Given the description of an element on the screen output the (x, y) to click on. 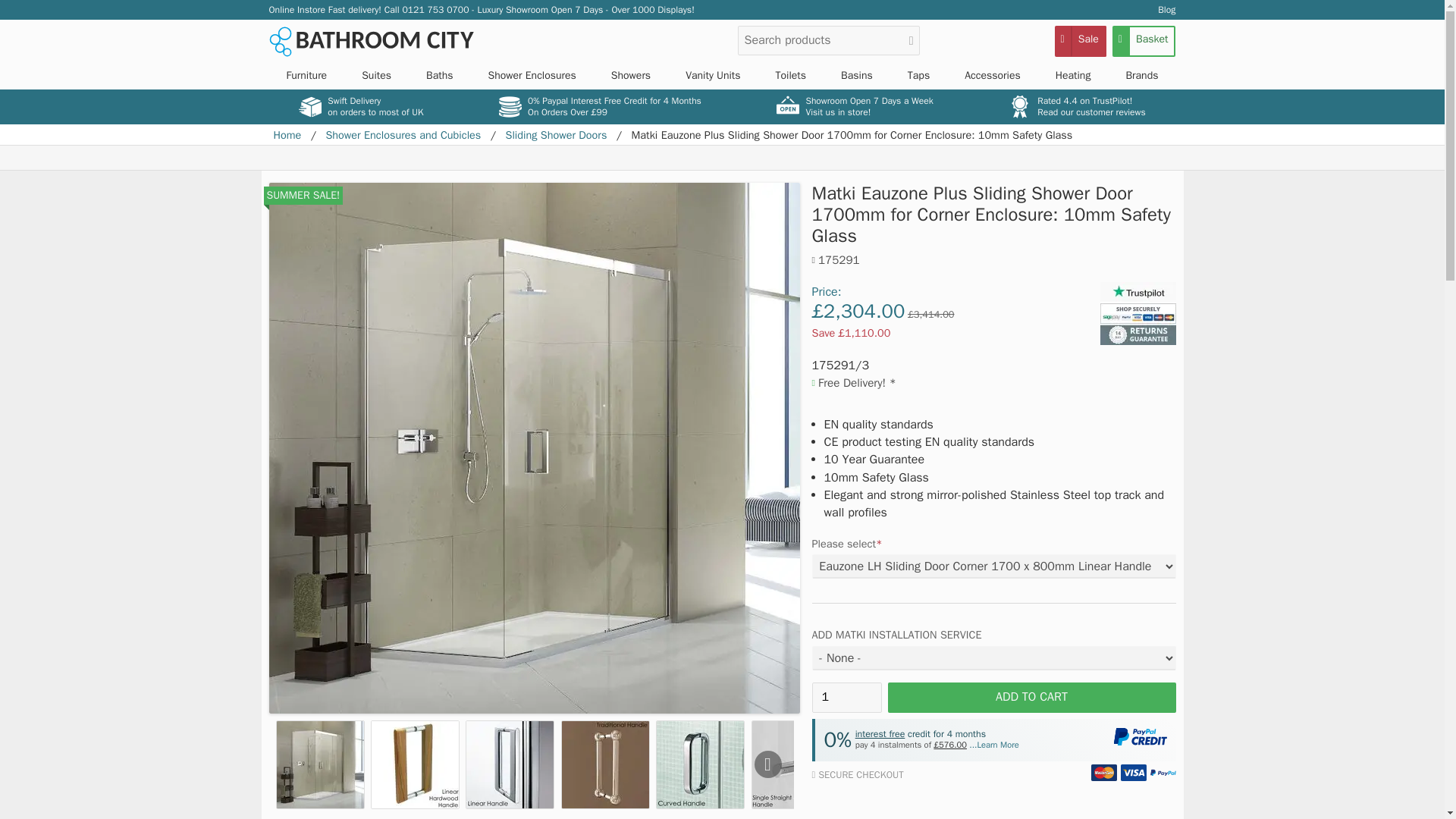
Blog (1165, 9)
Sale (1080, 40)
Furniture (305, 75)
Add to cart (1030, 697)
View Items in your Basket (1144, 40)
Furniture (305, 75)
Basket (1144, 40)
View Homepage (370, 40)
